Given the description of an element on the screen output the (x, y) to click on. 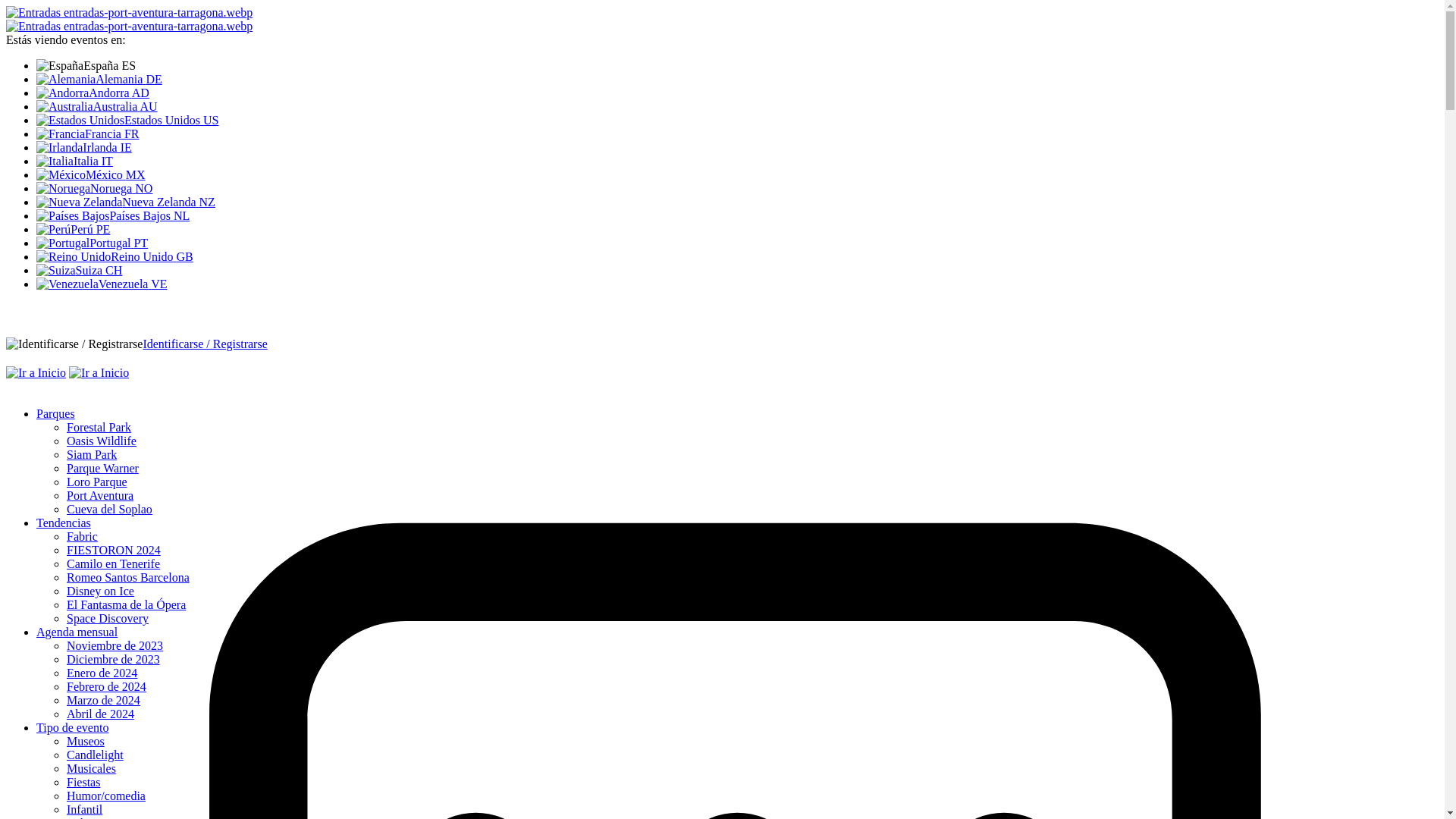
Infantil Element type: text (84, 809)
Noruega NO Element type: text (737, 188)
Parques Element type: text (55, 413)
Tipo de evento Element type: text (72, 727)
Parque Warner Element type: text (102, 467)
Francia FR Element type: text (737, 134)
Fiestas Element type: text (83, 781)
Musicales Element type: text (91, 768)
Italia IT Element type: text (737, 161)
Romeo Santos Barcelona Element type: text (127, 577)
Australia AU Element type: text (737, 106)
FIESTORON 2024 Element type: text (113, 549)
Alemania DE Element type: text (737, 79)
Disney on Ice Element type: text (100, 590)
Oasis Wildlife Element type: text (101, 440)
Port Aventura Element type: text (99, 495)
Humor/comedia Element type: text (105, 795)
Agenda mensual Element type: text (76, 631)
Venezuela VE Element type: text (737, 284)
Diciembre de 2023 Element type: text (113, 658)
Fabric Element type: text (81, 536)
Estados Unidos US Element type: text (737, 120)
Tendencias Element type: text (63, 522)
Marzo de 2024 Element type: text (103, 699)
Reino Unido GB Element type: text (737, 256)
Abril de 2024 Element type: text (100, 713)
Portugal PT Element type: text (737, 243)
Suiza CH Element type: text (737, 270)
Cueva del Soplao Element type: text (109, 508)
Enero de 2024 Element type: text (101, 672)
Andorra AD Element type: text (737, 93)
Irlanda IE Element type: text (737, 147)
Forestal Park Element type: text (98, 426)
Loro Parque Element type: text (96, 481)
Identificarse / Registrarse Element type: text (204, 343)
Noviembre de 2023 Element type: text (114, 645)
Siam Park Element type: text (91, 454)
Camilo en Tenerife Element type: text (113, 563)
Febrero de 2024 Element type: text (106, 686)
Space Discovery Element type: text (107, 617)
Museos Element type: text (85, 740)
Candlelight Element type: text (94, 754)
Nueva Zelanda NZ Element type: text (737, 202)
